Given the description of an element on the screen output the (x, y) to click on. 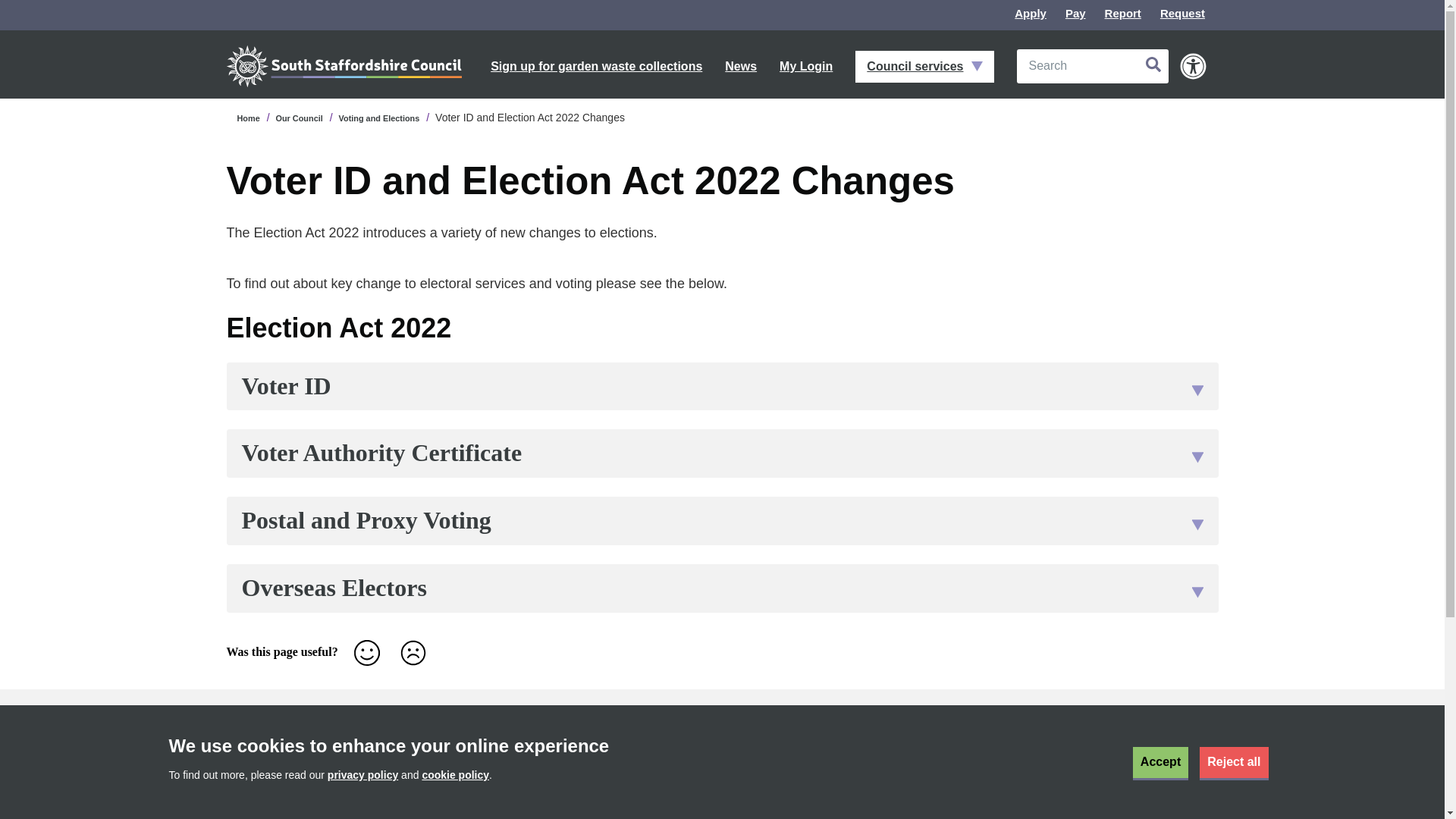
Open Accessibility (1193, 66)
Voter Authority Certificate (721, 453)
Voter ID (721, 386)
Request (1182, 12)
Voting and Elections (379, 117)
Skip to main content (12, 12)
My Login (805, 66)
Home (247, 117)
Pay (1075, 12)
News (741, 66)
Council services (924, 66)
Apply (1152, 64)
Our Council (299, 117)
Sign up (1188, 755)
Accessibility (1193, 66)
